Given the description of an element on the screen output the (x, y) to click on. 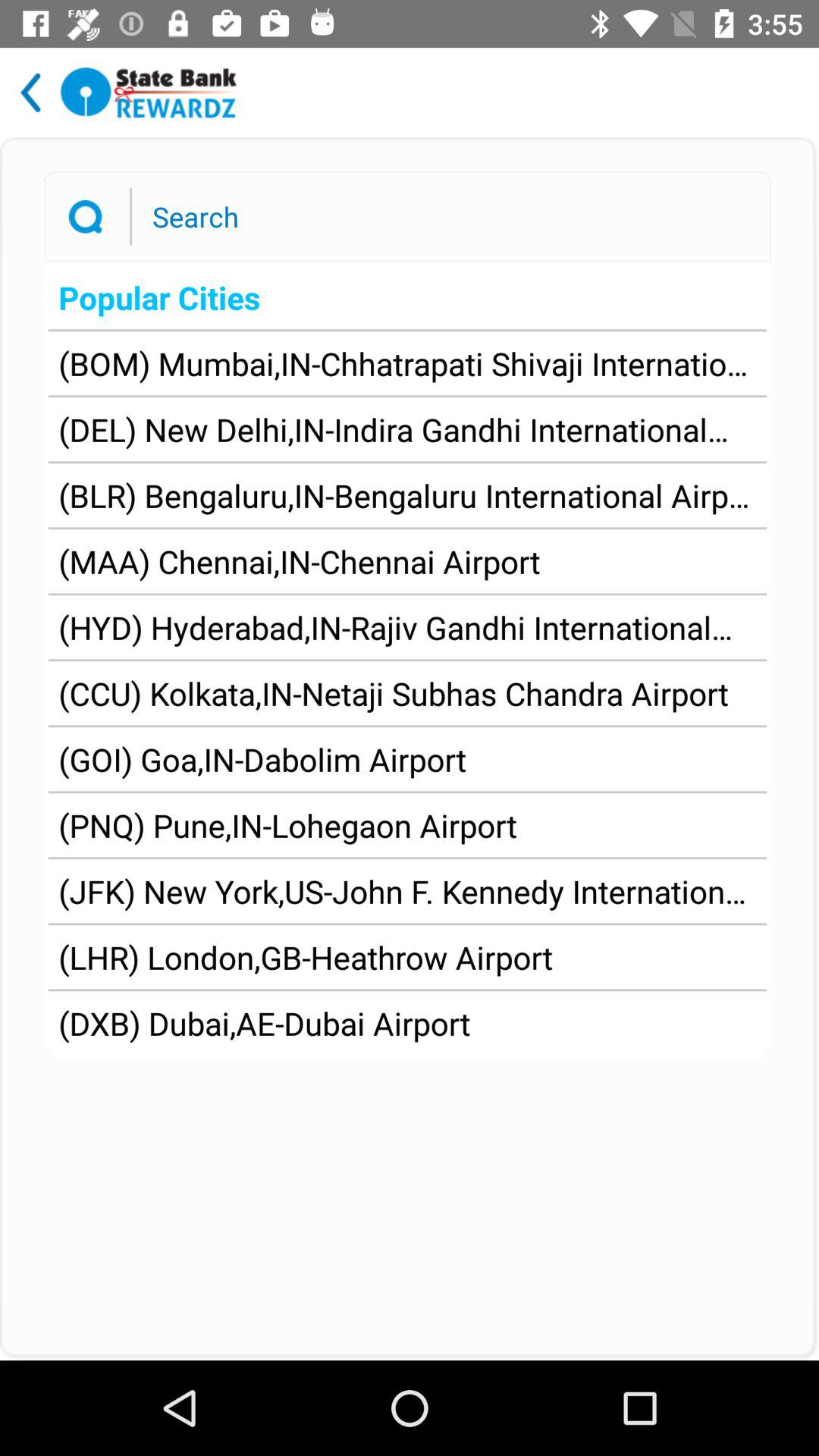
turn on the item above the lhr london gb (407, 890)
